Given the description of an element on the screen output the (x, y) to click on. 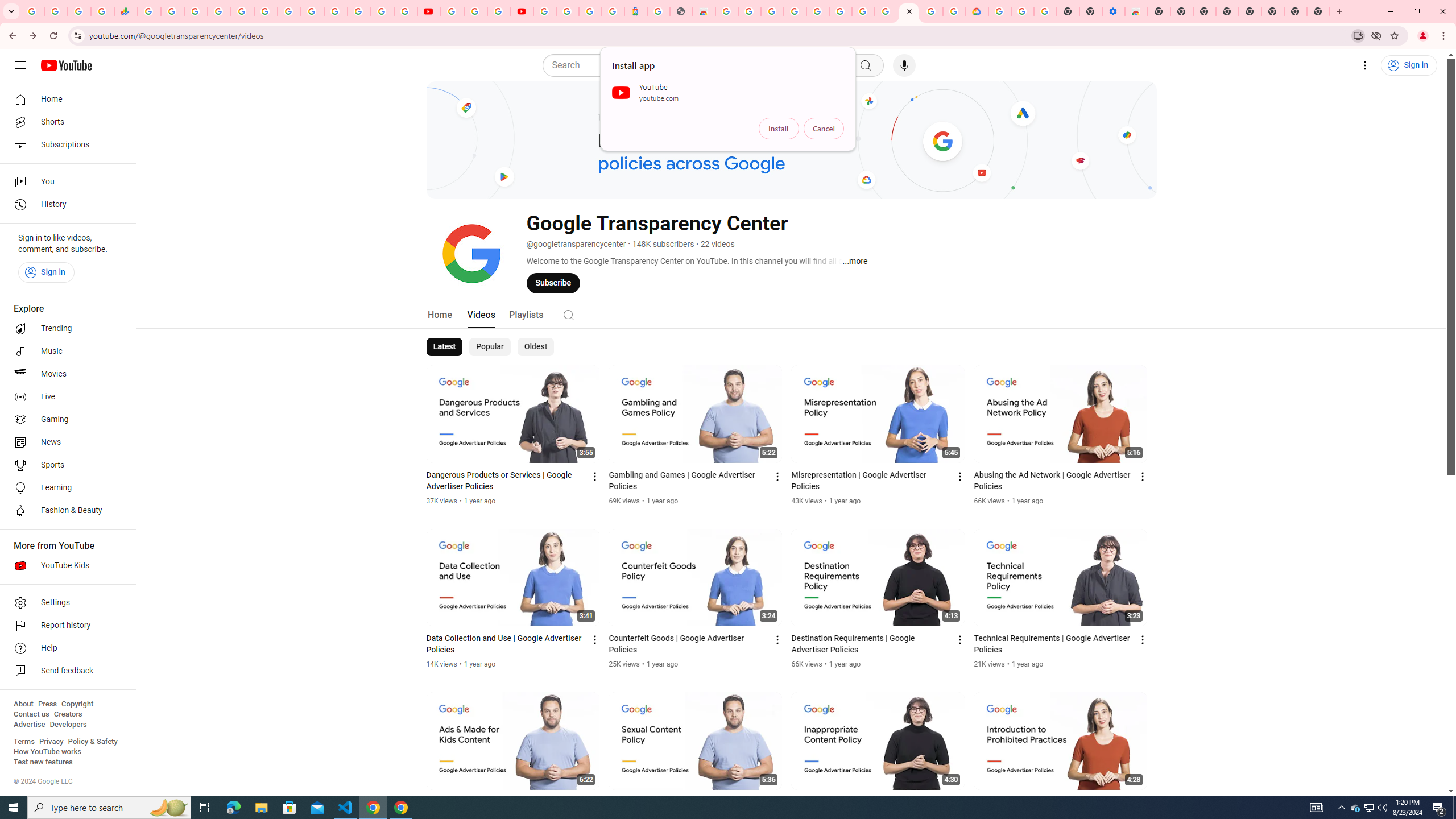
Fashion & Beauty (64, 510)
Sign in - Google Accounts (218, 11)
Report history (64, 625)
Music (64, 350)
Guide (20, 65)
Live (64, 396)
Chrome Web Store - Household (703, 11)
Sign in - Google Accounts (335, 11)
Google Account Help (863, 11)
